Given the description of an element on the screen output the (x, y) to click on. 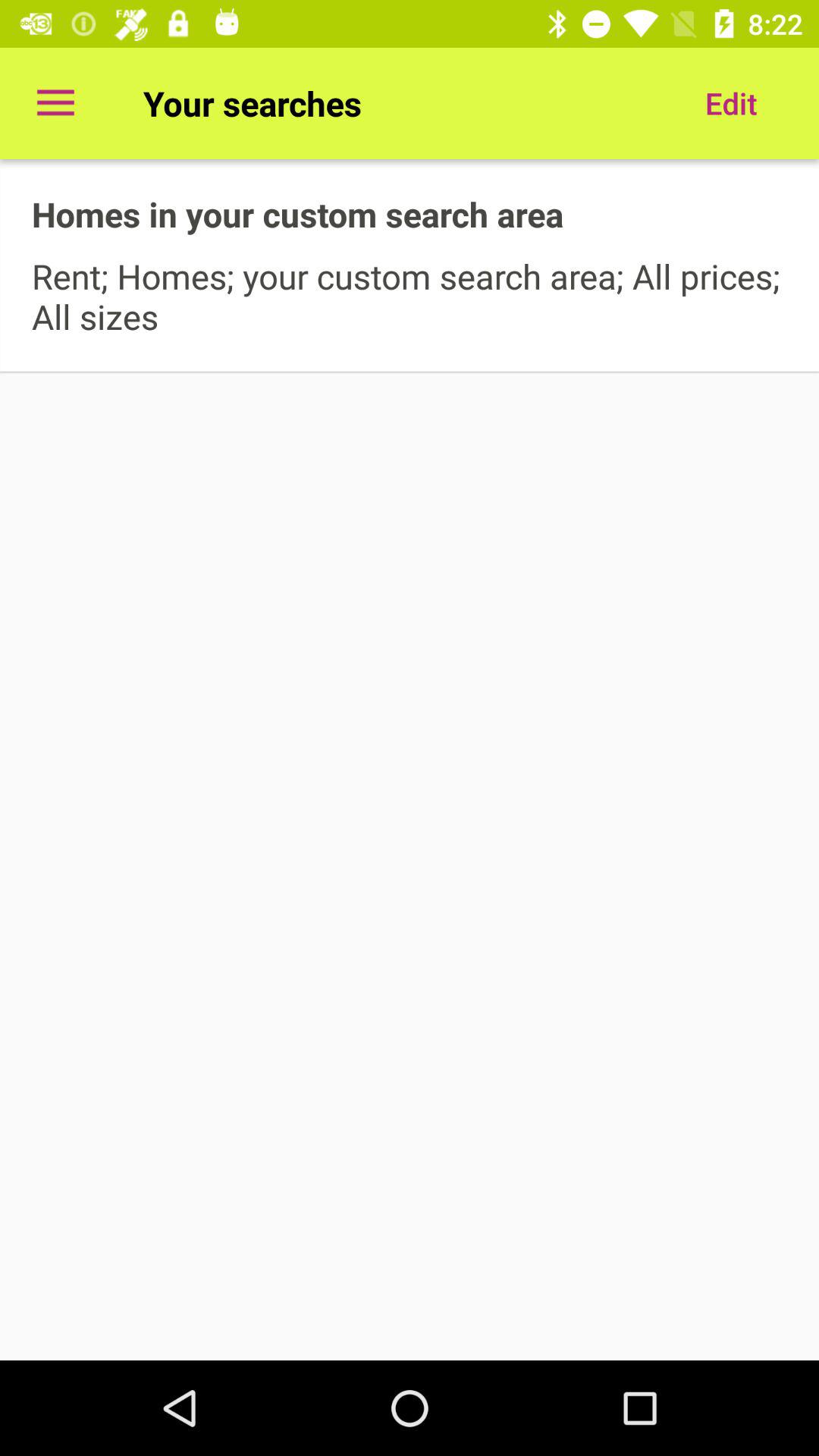
swipe until the edit (731, 103)
